Given the description of an element on the screen output the (x, y) to click on. 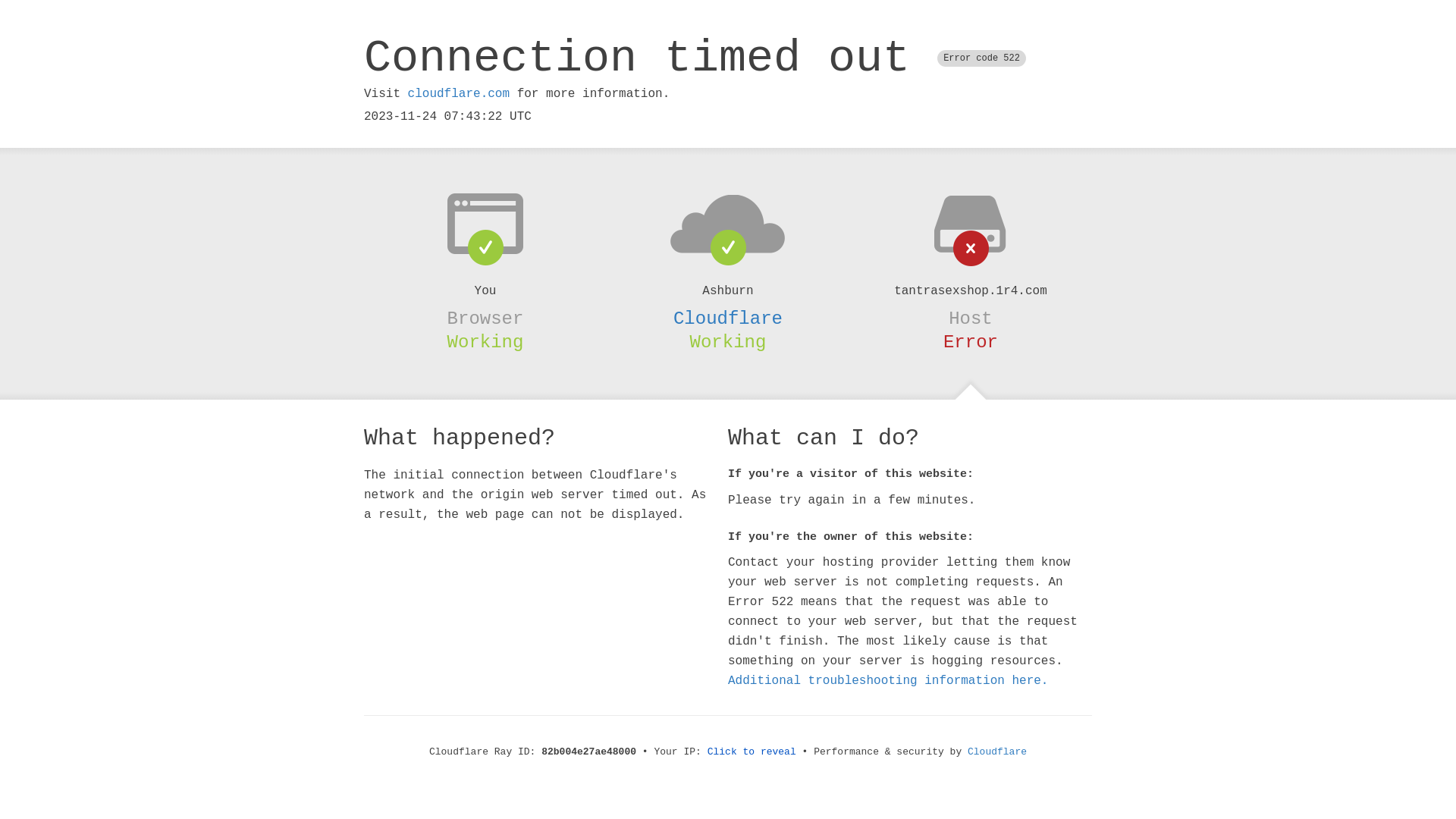
Additional troubleshooting information here. Element type: text (888, 680)
Cloudflare Element type: text (727, 318)
Cloudflare Element type: text (996, 751)
Click to reveal Element type: text (751, 751)
cloudflare.com Element type: text (458, 93)
